Given the description of an element on the screen output the (x, y) to click on. 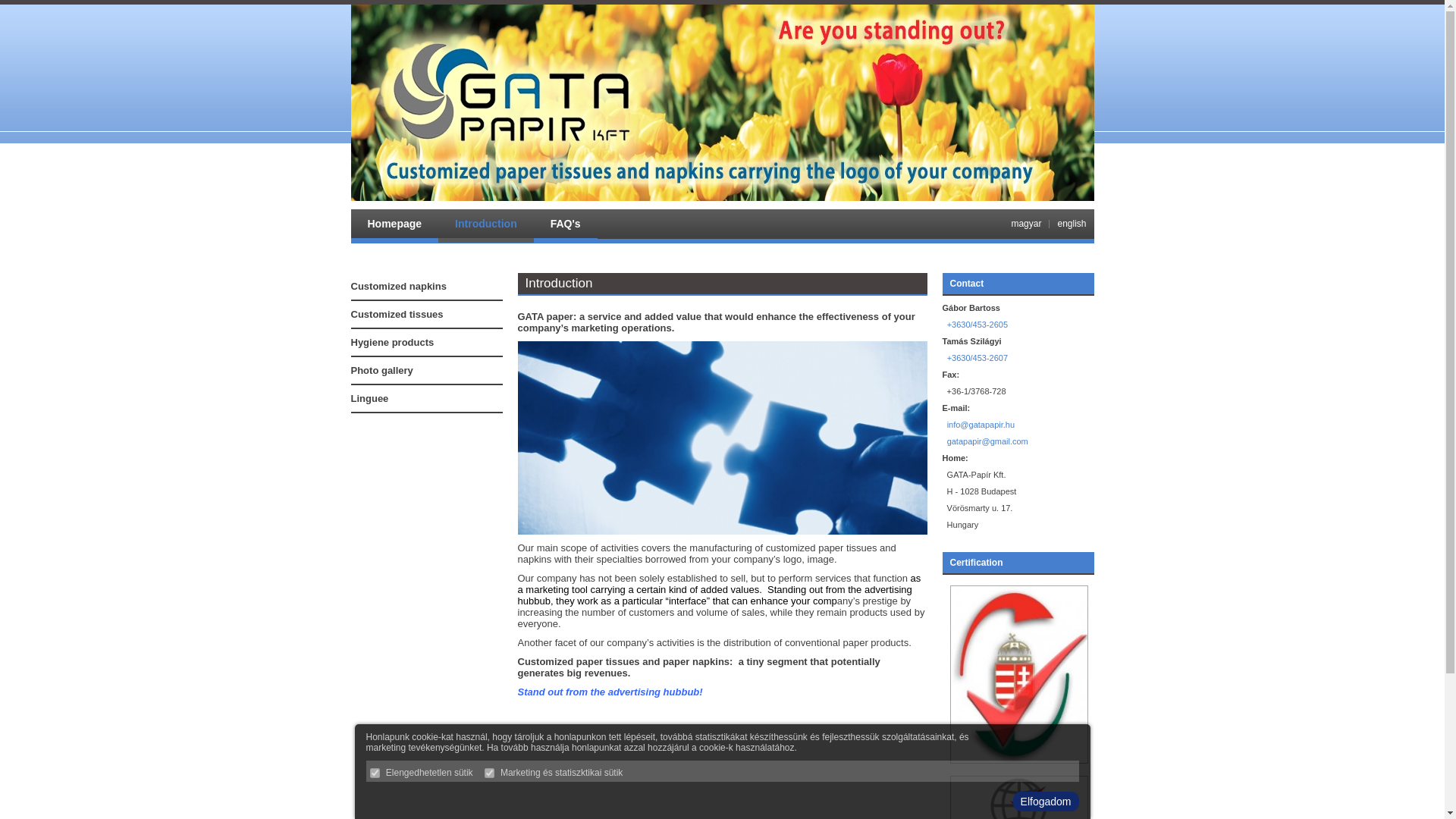
on (374, 773)
Customized tissues (426, 315)
FAQ's (565, 225)
Certification (976, 562)
Linguee (426, 398)
FAQ's (565, 225)
Linguee (426, 398)
english (1071, 223)
Homepage (394, 225)
Introduction (486, 225)
on (489, 773)
Certification (976, 562)
Customized tissues (426, 315)
Customized napkins (426, 286)
magyar (1025, 223)
